Given the description of an element on the screen output the (x, y) to click on. 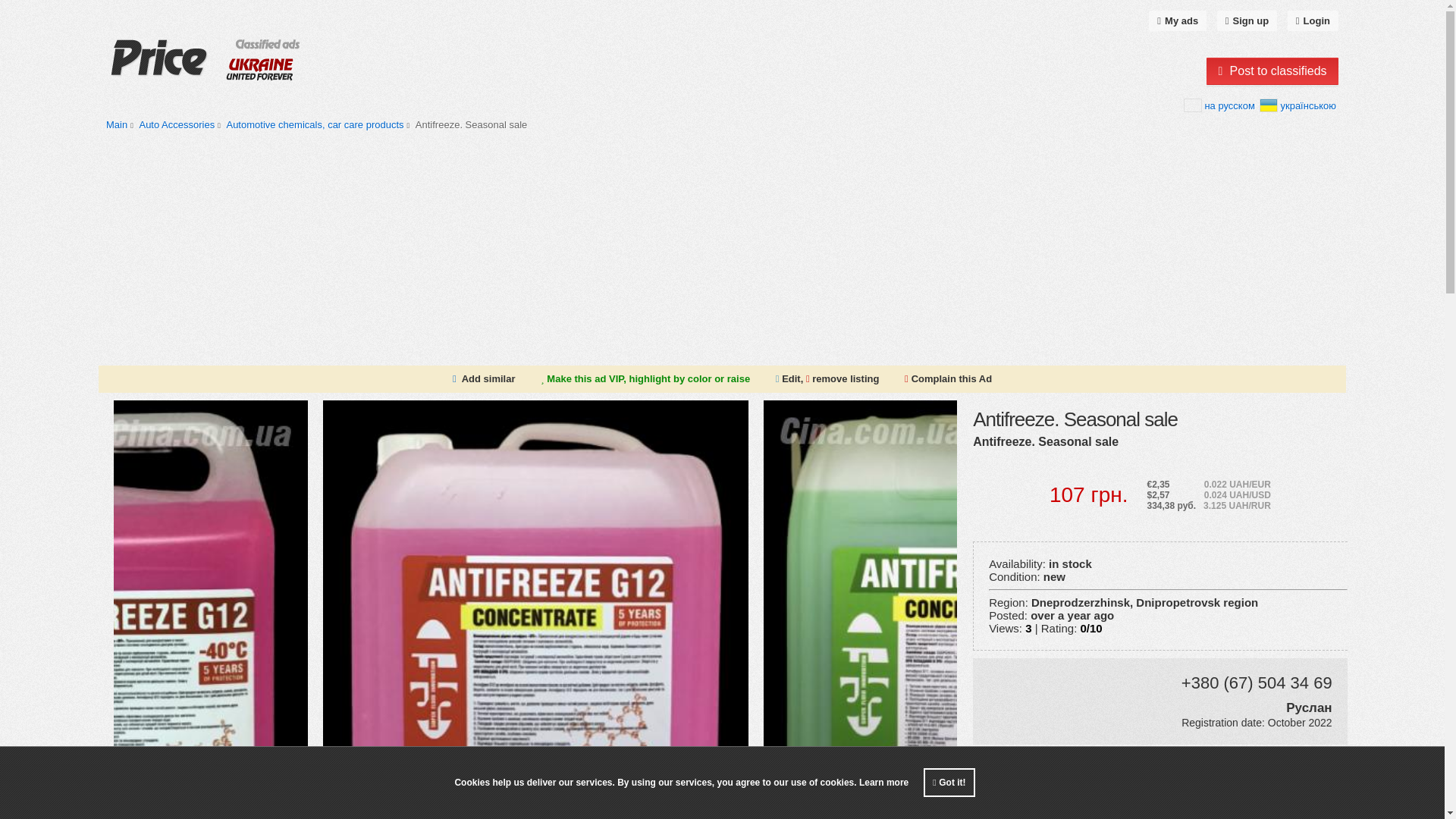
Sign up (1246, 20)
Login (1312, 20)
Add similar (488, 378)
Auto Accessories (176, 124)
Make this ad VIP, highlight by color or raise (644, 378)
Post to classifieds (1272, 71)
Main (117, 124)
Complain this Ad (947, 378)
649 (180, 124)
Edit, remove listing (827, 378)
Automotive chemicals, car care products (314, 124)
Complain this Ad (948, 379)
166 (318, 124)
My ads (1177, 20)
